Given the description of an element on the screen output the (x, y) to click on. 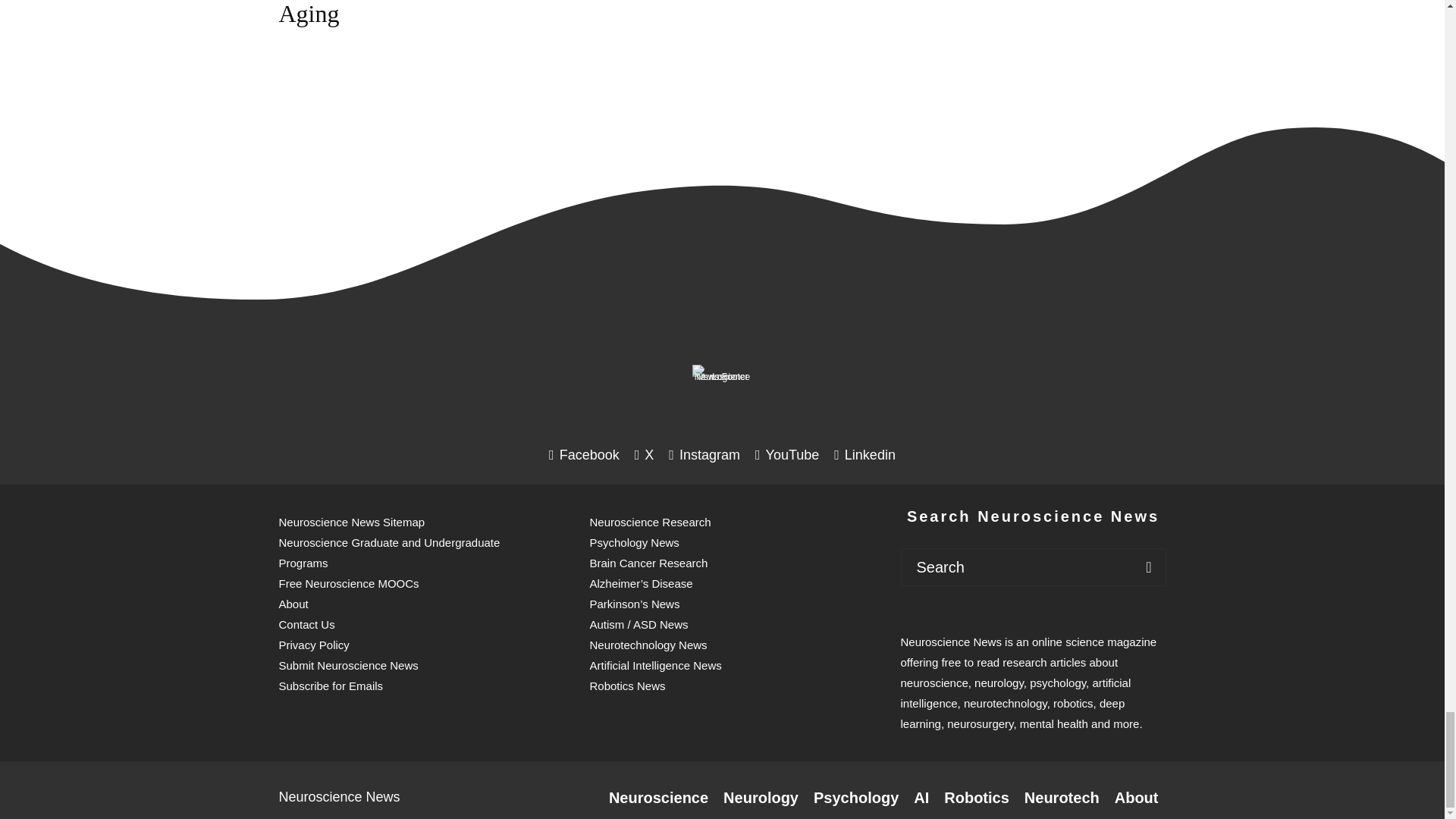
Psychology Research Articles (855, 797)
Neuroscience Research (657, 797)
Neurology Research Articles (760, 797)
